Given the description of an element on the screen output the (x, y) to click on. 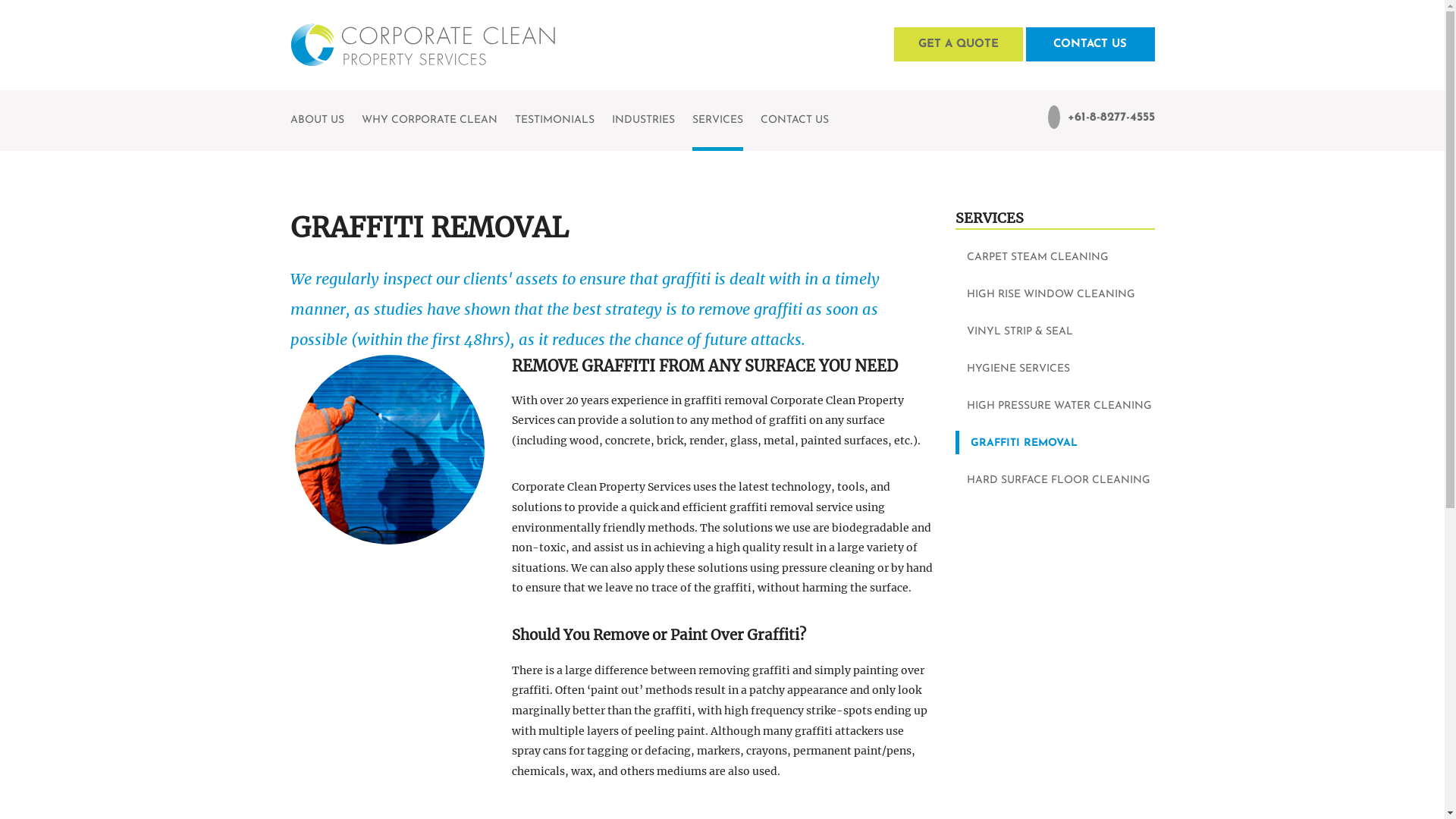
HIGH RISE WINDOW CLEANING Element type: text (1054, 293)
GET A QUOTE Element type: text (957, 44)
HYGIENE SERVICES Element type: text (1054, 367)
VINYL STRIP & SEAL Element type: text (1054, 330)
+61-8-8277-4555 Element type: text (1101, 116)
ABOUT US Element type: text (316, 120)
HIGH PRESSURE WATER CLEANING Element type: text (1054, 405)
SERVICES Element type: text (716, 120)
CONTACT US Element type: text (1089, 44)
CONTACT US Element type: text (793, 120)
HARD SURFACE FLOOR CLEANING Element type: text (1054, 479)
TESTIMONIALS Element type: text (553, 120)
GRAFFITI REMOVAL Element type: text (1054, 442)
INDUSTRIES Element type: text (642, 120)
WHY CORPORATE CLEAN Element type: text (428, 120)
CARPET STEAM CLEANING Element type: text (1054, 256)
